Given the description of an element on the screen output the (x, y) to click on. 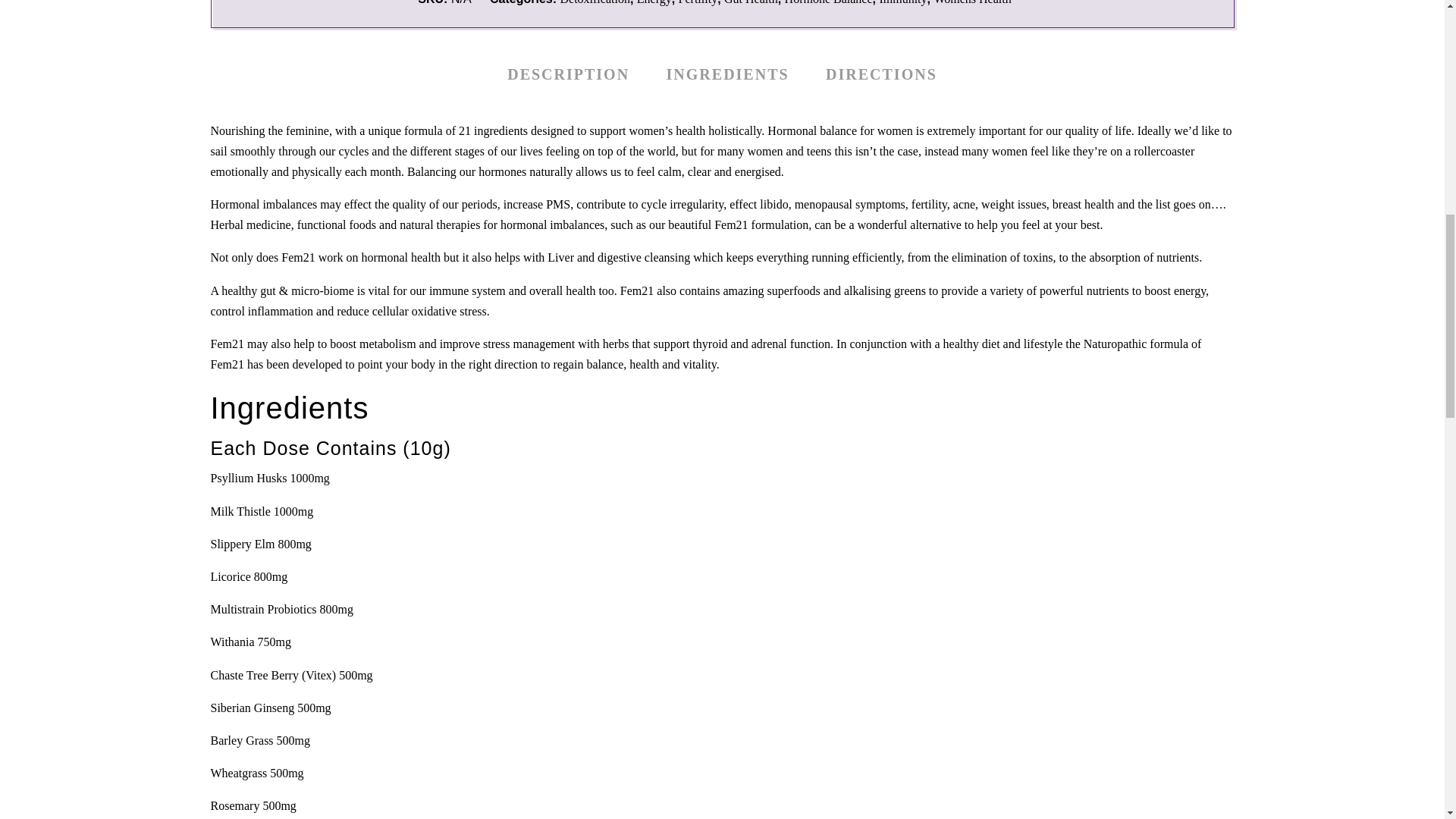
Detoxification (593, 2)
DIRECTIONS (881, 74)
DESCRIPTION (567, 74)
INGREDIENTS (727, 74)
Hormone Balance (828, 2)
Immunity (902, 2)
Energy (654, 2)
Womens Health (971, 2)
Gut Health (750, 2)
Fertility (697, 2)
